Given the description of an element on the screen output the (x, y) to click on. 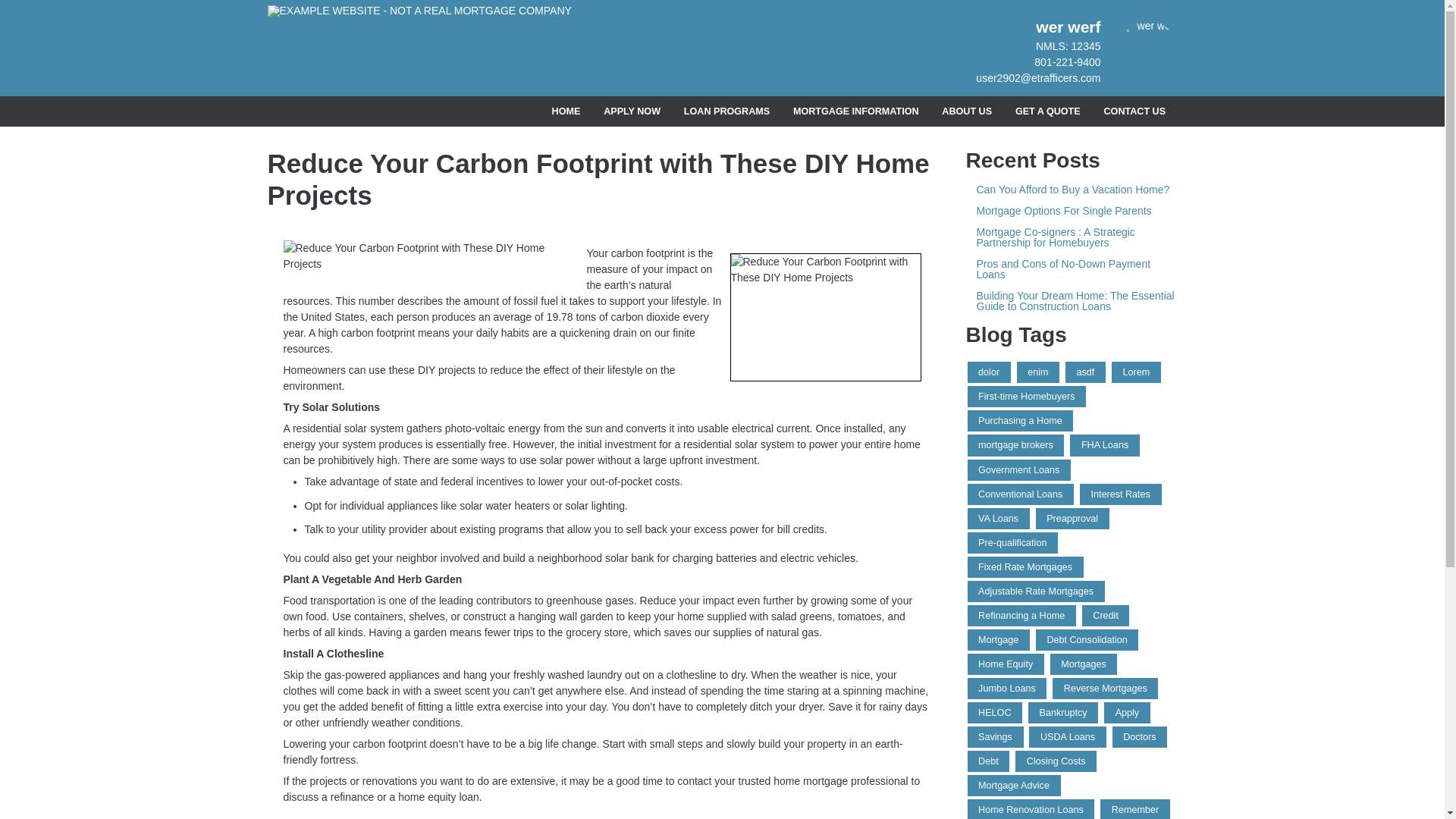
MORTGAGE INFORMATION (855, 111)
Can You Afford to Buy a Vacation Home? (1071, 189)
LOAN PROGRAMS (725, 111)
801-221-9400 (1066, 61)
Mortgage Co-signers : A Strategic Partnership for Homebuyers (1071, 237)
CONTACT US (1134, 111)
APPLY NOW (632, 111)
Mortgage Options For Single Parents (1071, 210)
Pros and Cons of No-Down Payment Loans (1071, 269)
GET A QUOTE (1047, 111)
ABOUT US (967, 111)
HOME (566, 111)
